Given the description of an element on the screen output the (x, y) to click on. 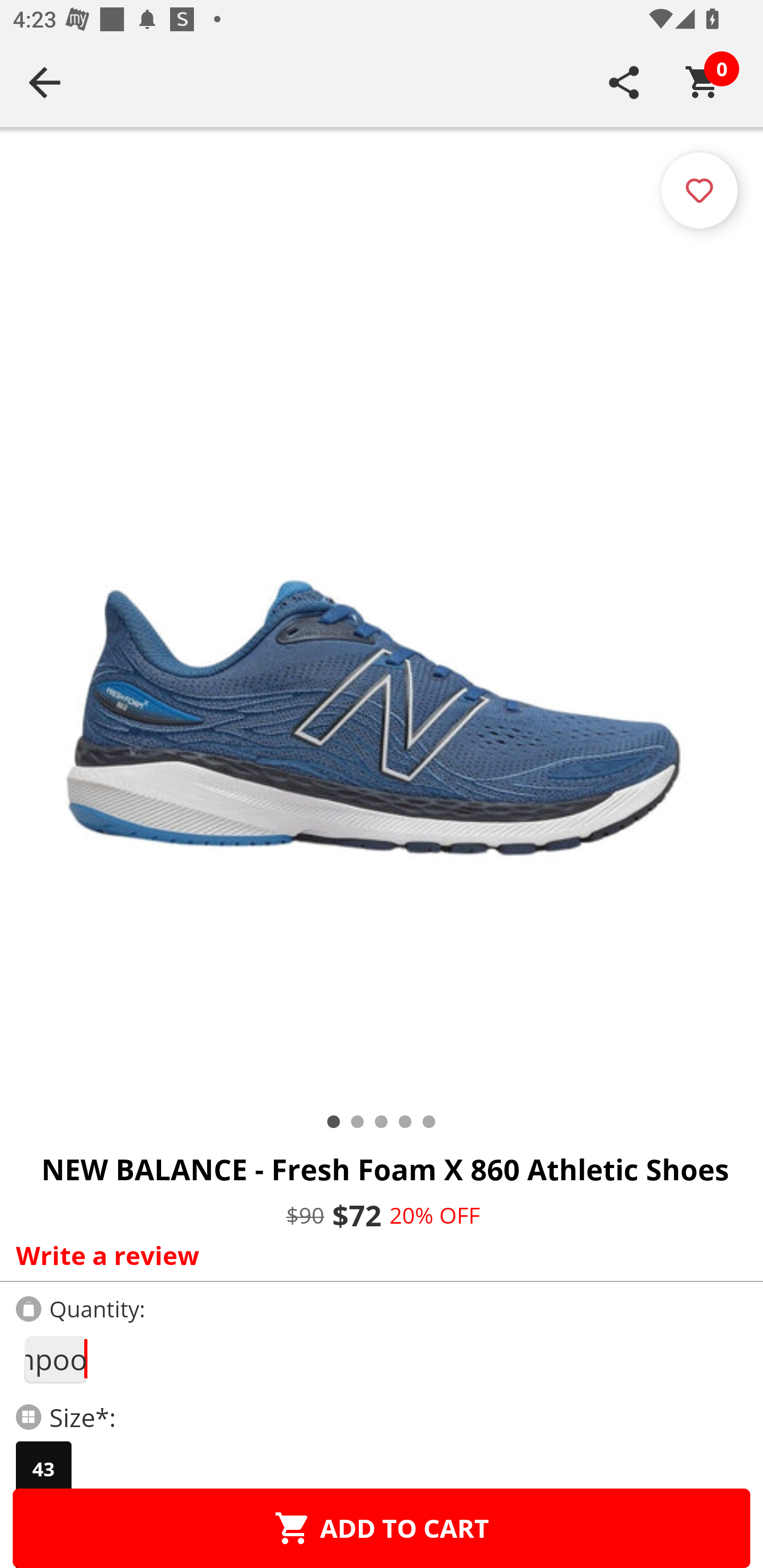
Navigate up (44, 82)
SHARE (623, 82)
Cart (703, 81)
Write a review (377, 1255)
1shampoo (55, 1358)
43 (43, 1468)
ADD TO CART (381, 1528)
